Given the description of an element on the screen output the (x, y) to click on. 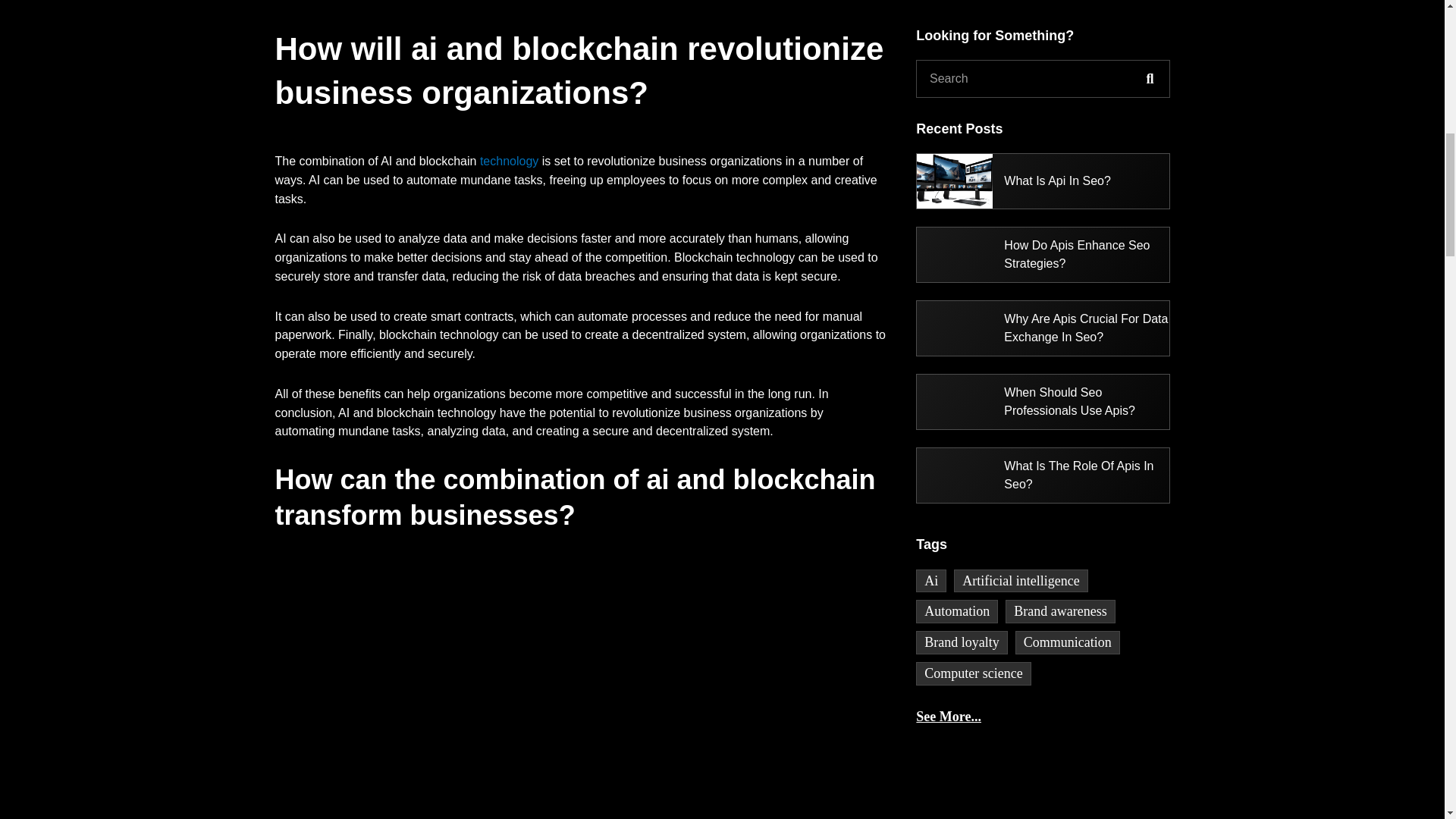
What Is The Role Of Apis In Seo? (1043, 474)
Ai (930, 580)
Why Are Apis Crucial For Data Exchange In Seo? (1043, 328)
Brand loyalty (961, 642)
Brand awareness (1060, 611)
Computer science (972, 673)
Search (1150, 78)
What Is Api In Seo? (1013, 180)
Artificial intelligence (1020, 580)
Automation (956, 611)
technology (509, 160)
When Should Seo Professionals Use Apis? (1043, 401)
Communication (1066, 642)
How Do Apis Enhance Seo Strategies? (1043, 254)
